Given the description of an element on the screen output the (x, y) to click on. 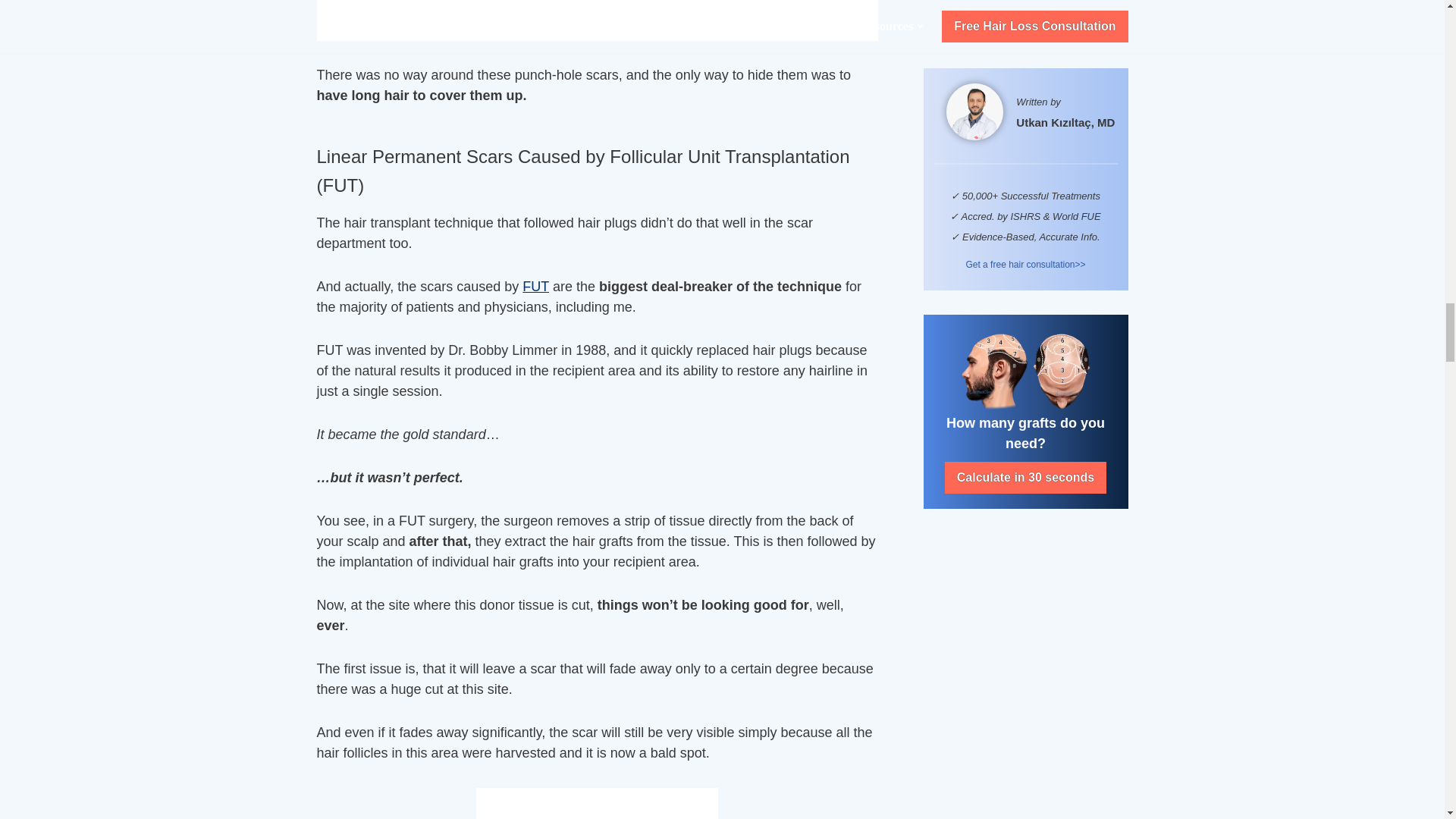
FUT (535, 286)
